Given the description of an element on the screen output the (x, y) to click on. 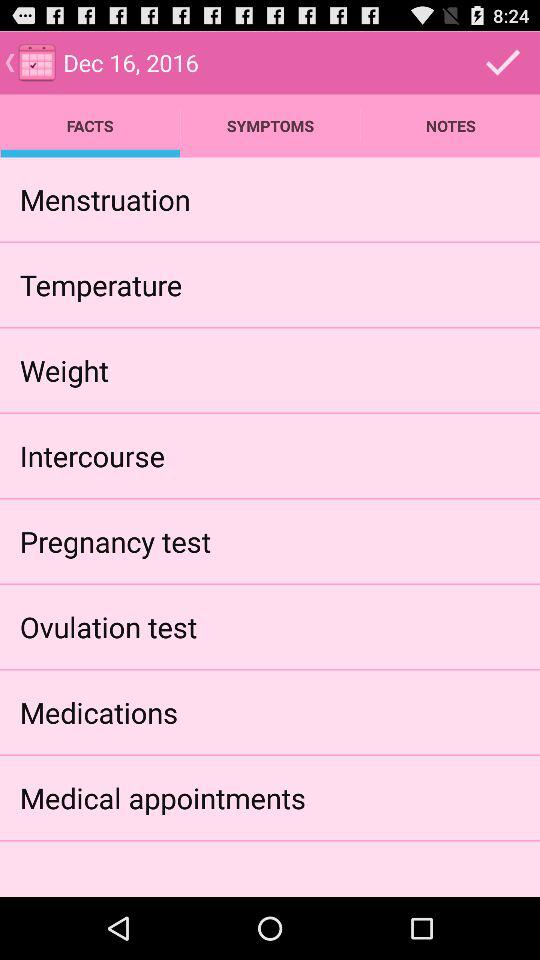
check mark button (503, 62)
